Given the description of an element on the screen output the (x, y) to click on. 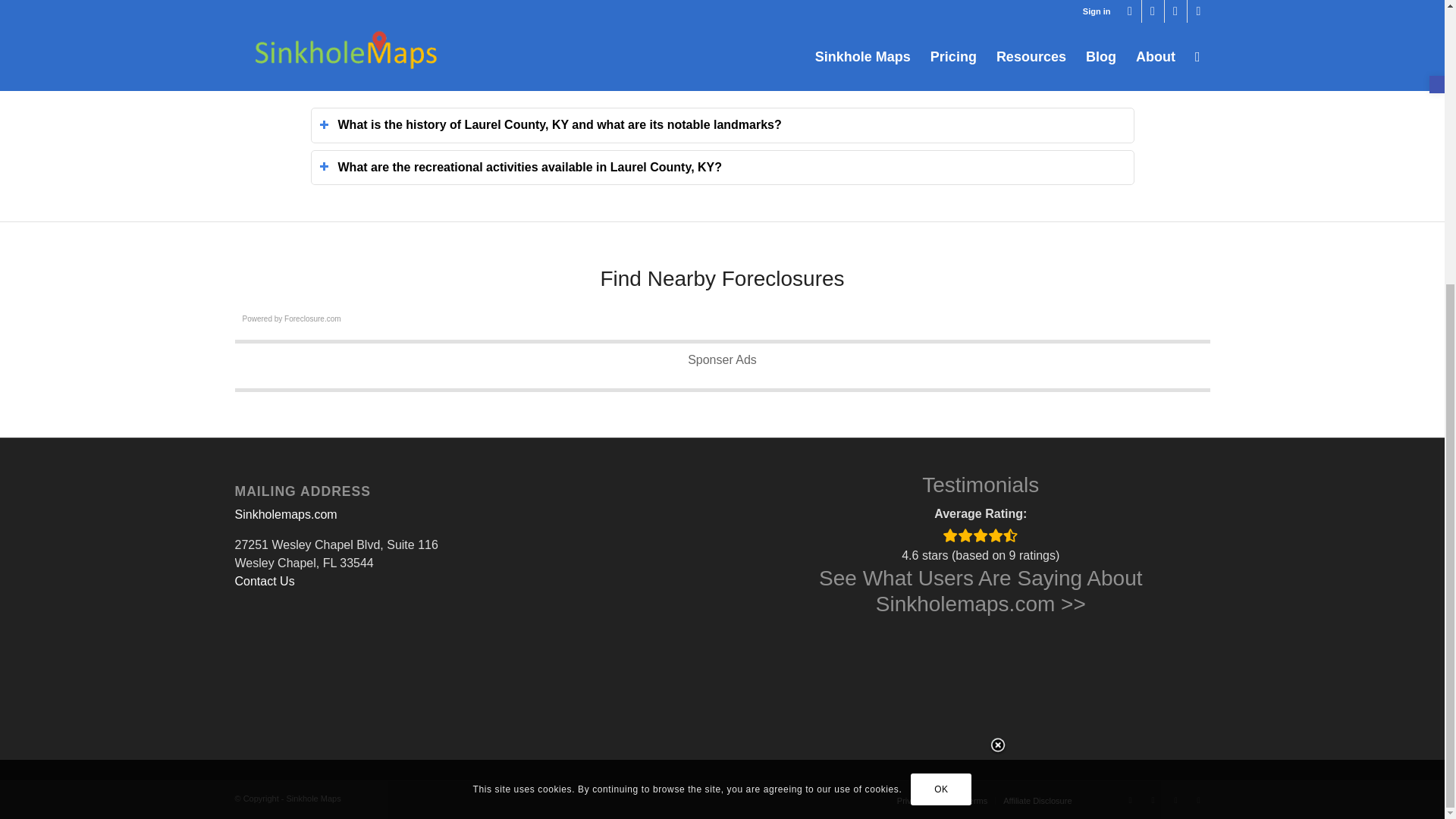
Twitter (1130, 799)
Facebook (1152, 799)
Foreclosure listings (311, 318)
Youtube (1176, 799)
Rss (1198, 799)
